Given the description of an element on the screen output the (x, y) to click on. 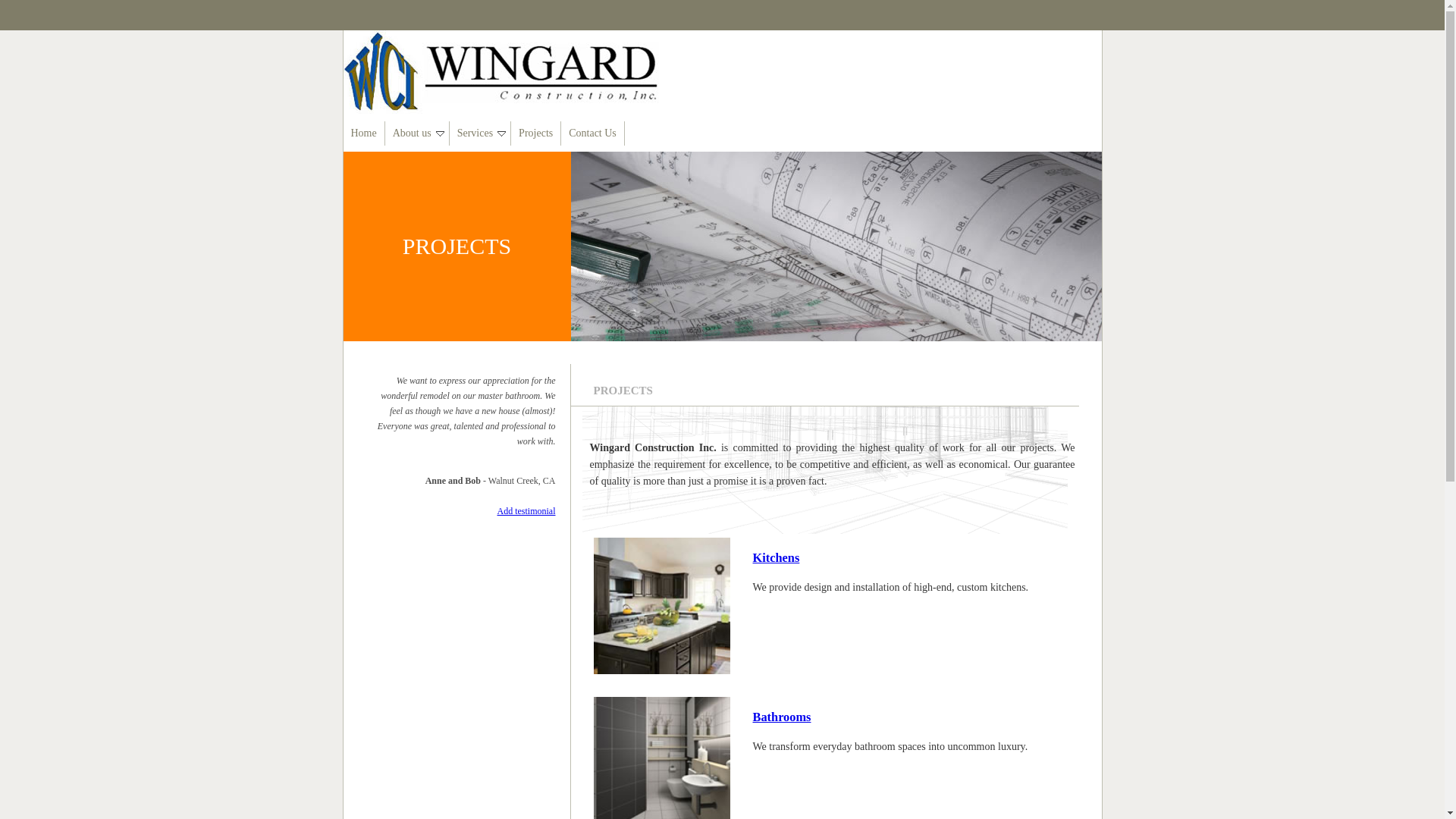
Project (835, 246)
Contact Us (592, 133)
Projects (535, 133)
Add testimonial (526, 511)
Kitchens (775, 557)
Services (480, 133)
About us (417, 133)
Home (363, 133)
Bathrooms (781, 716)
